Given the description of an element on the screen output the (x, y) to click on. 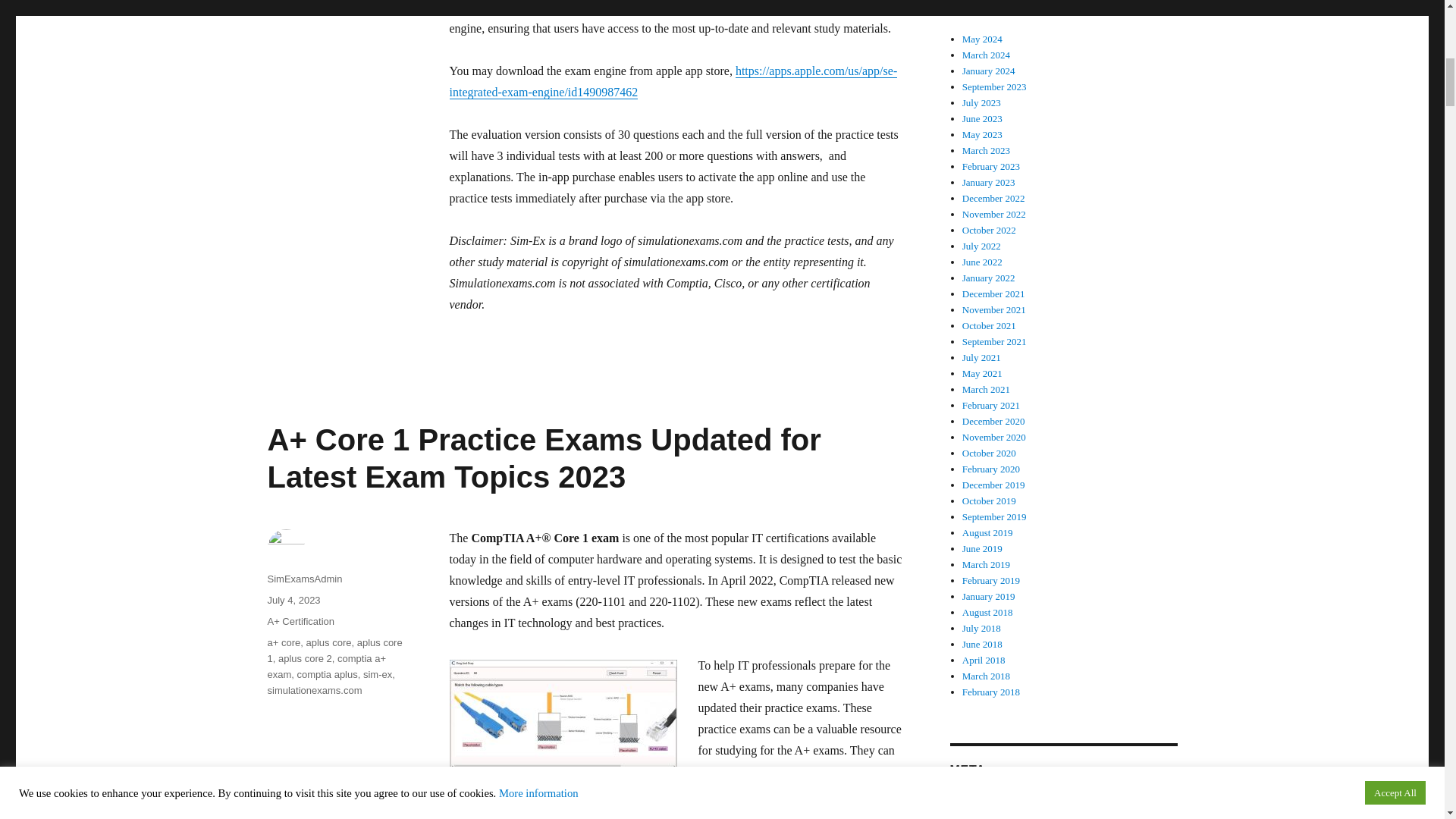
July 4, 2023 (293, 600)
aplus core (327, 642)
aplus core 2 (304, 658)
comptia aplus (327, 674)
SimExamsAdmin (304, 578)
aplus core 1 (333, 650)
SimulationExams.com (597, 6)
